Given the description of an element on the screen output the (x, y) to click on. 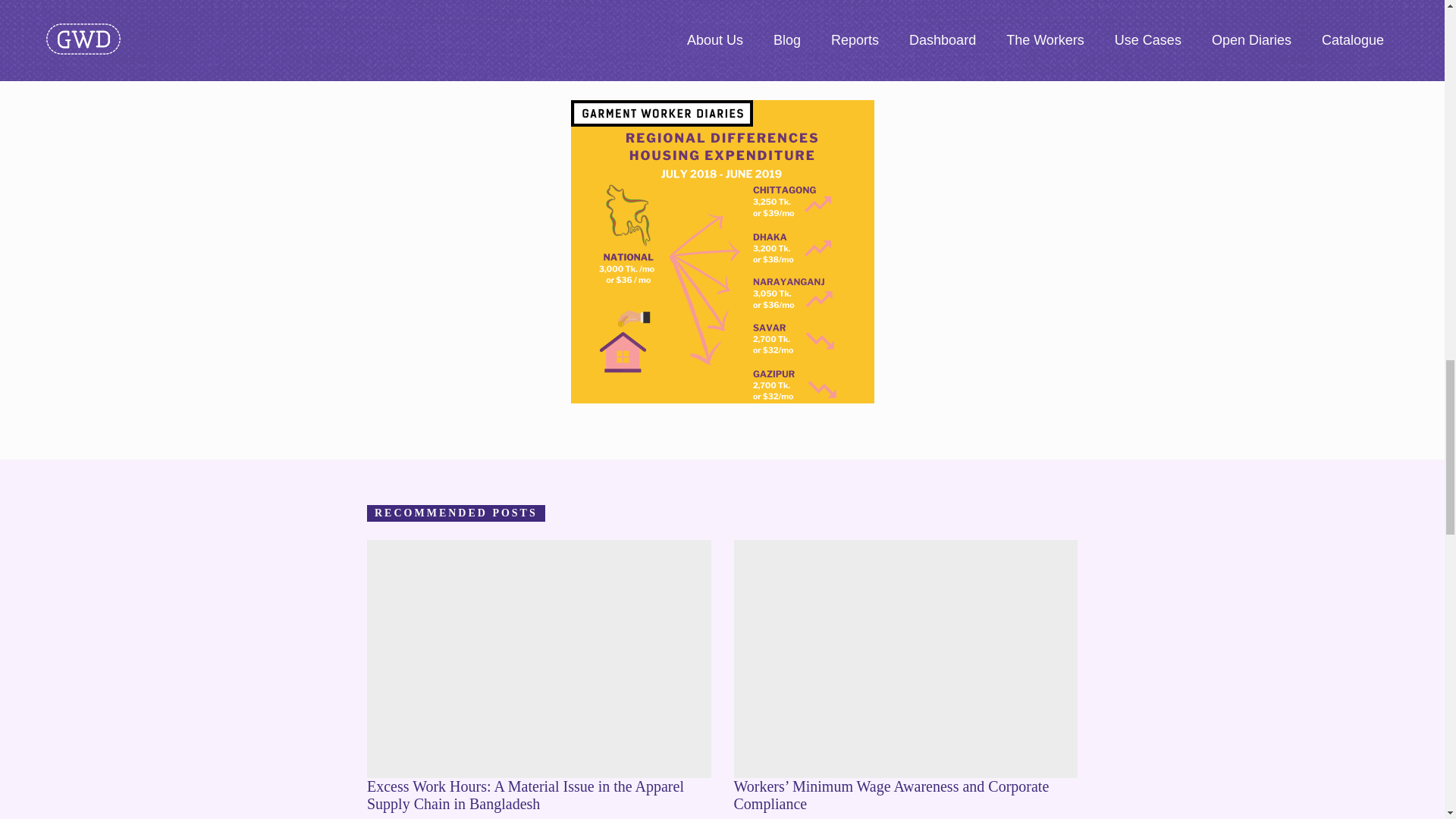
reports page (827, 38)
meet-rajia-400x400 (418, 251)
